Given the description of an element on the screen output the (x, y) to click on. 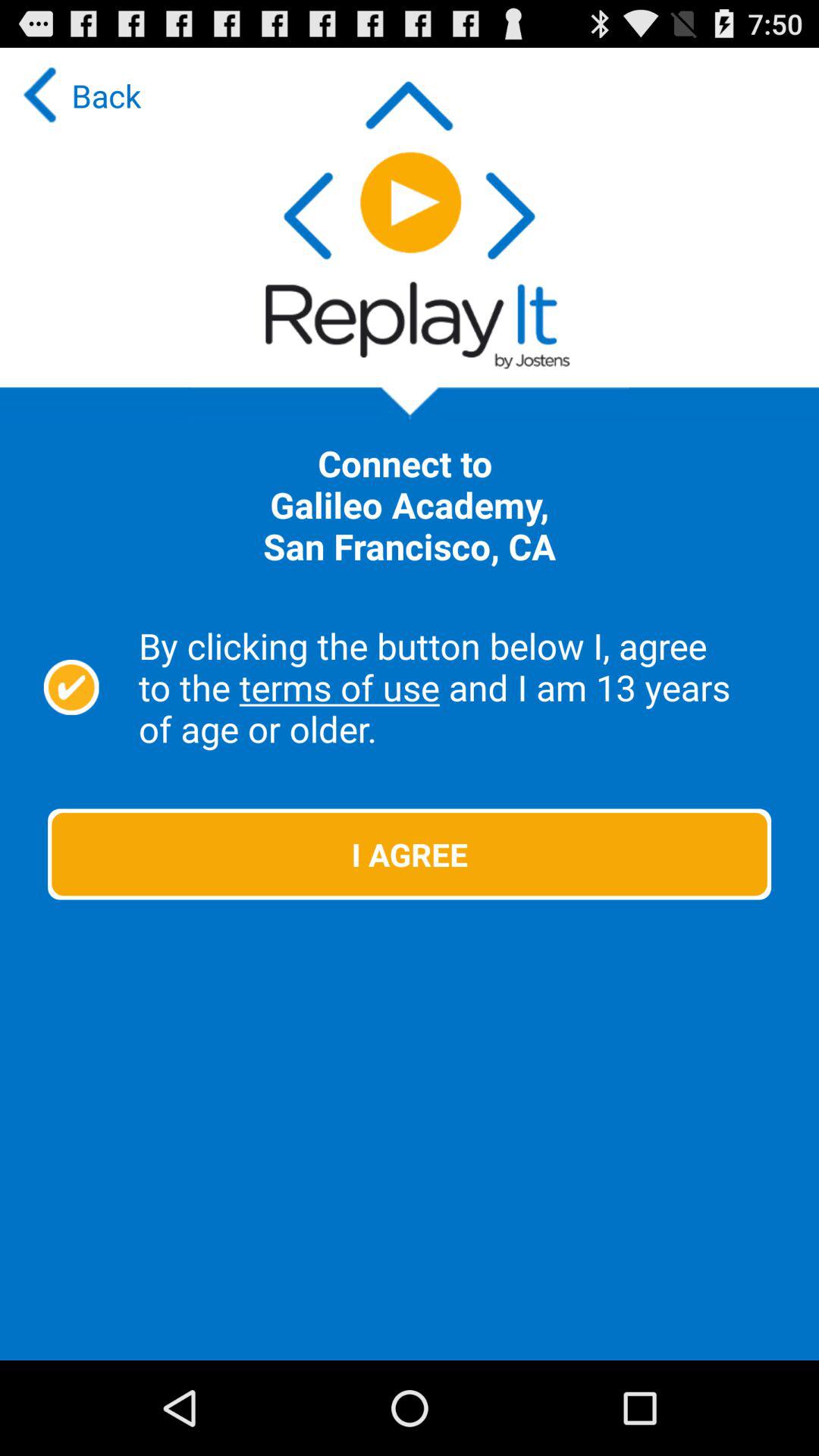
open back at the top left corner (78, 95)
